Given the description of an element on the screen output the (x, y) to click on. 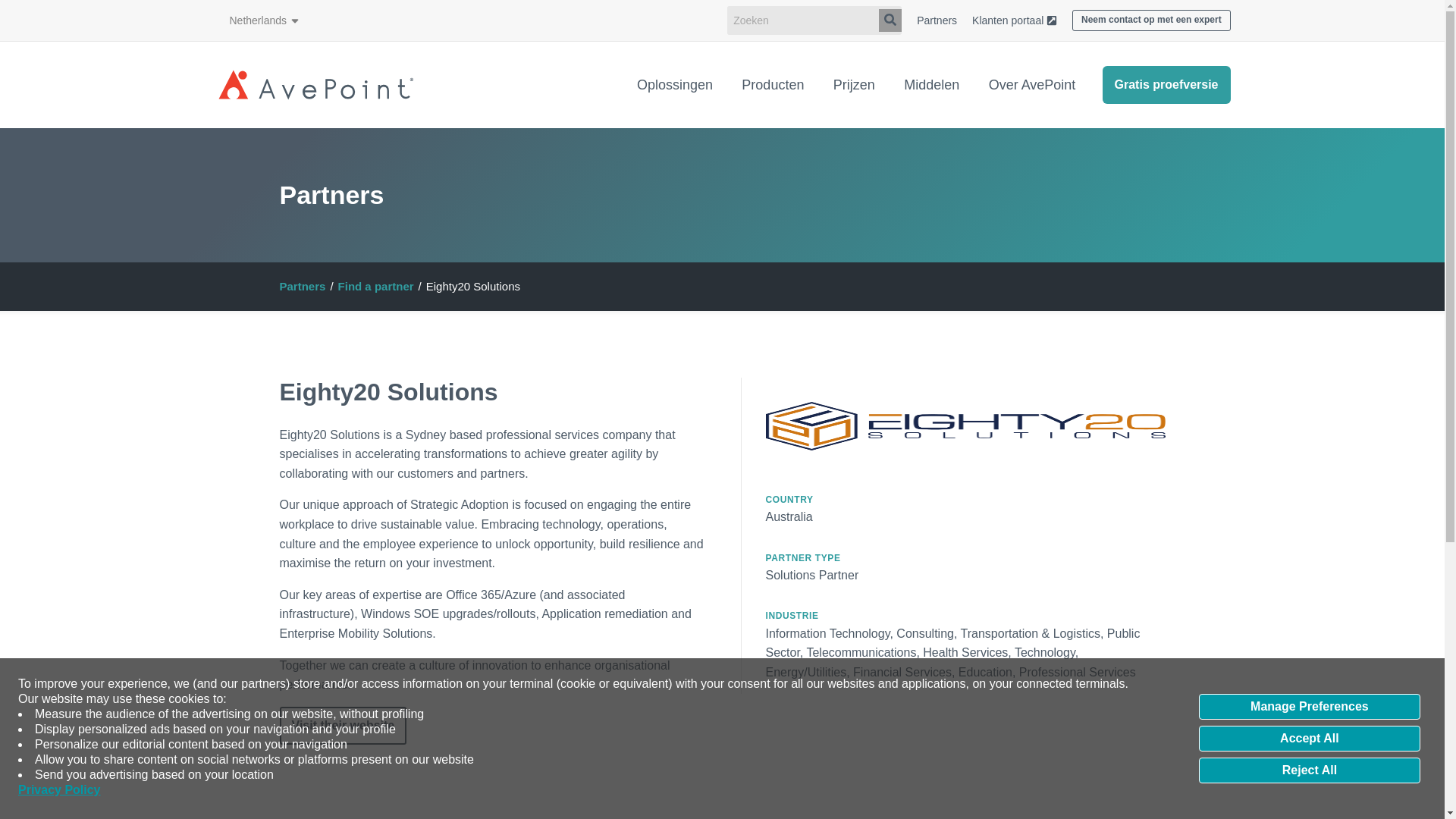
Manage Preferences (1309, 706)
Klanten portaal (1014, 20)
Neem contact op met een expert (1150, 20)
Home (315, 85)
Reject All (1309, 769)
Neem contact op met een expert (1150, 20)
Accept All (1309, 738)
Netherlands  (263, 20)
Partners (936, 20)
Privacy Policy (58, 789)
Oplossingen (675, 83)
Partners (936, 20)
Oplossingen (675, 83)
Klanten portaal (1014, 20)
